Given the description of an element on the screen output the (x, y) to click on. 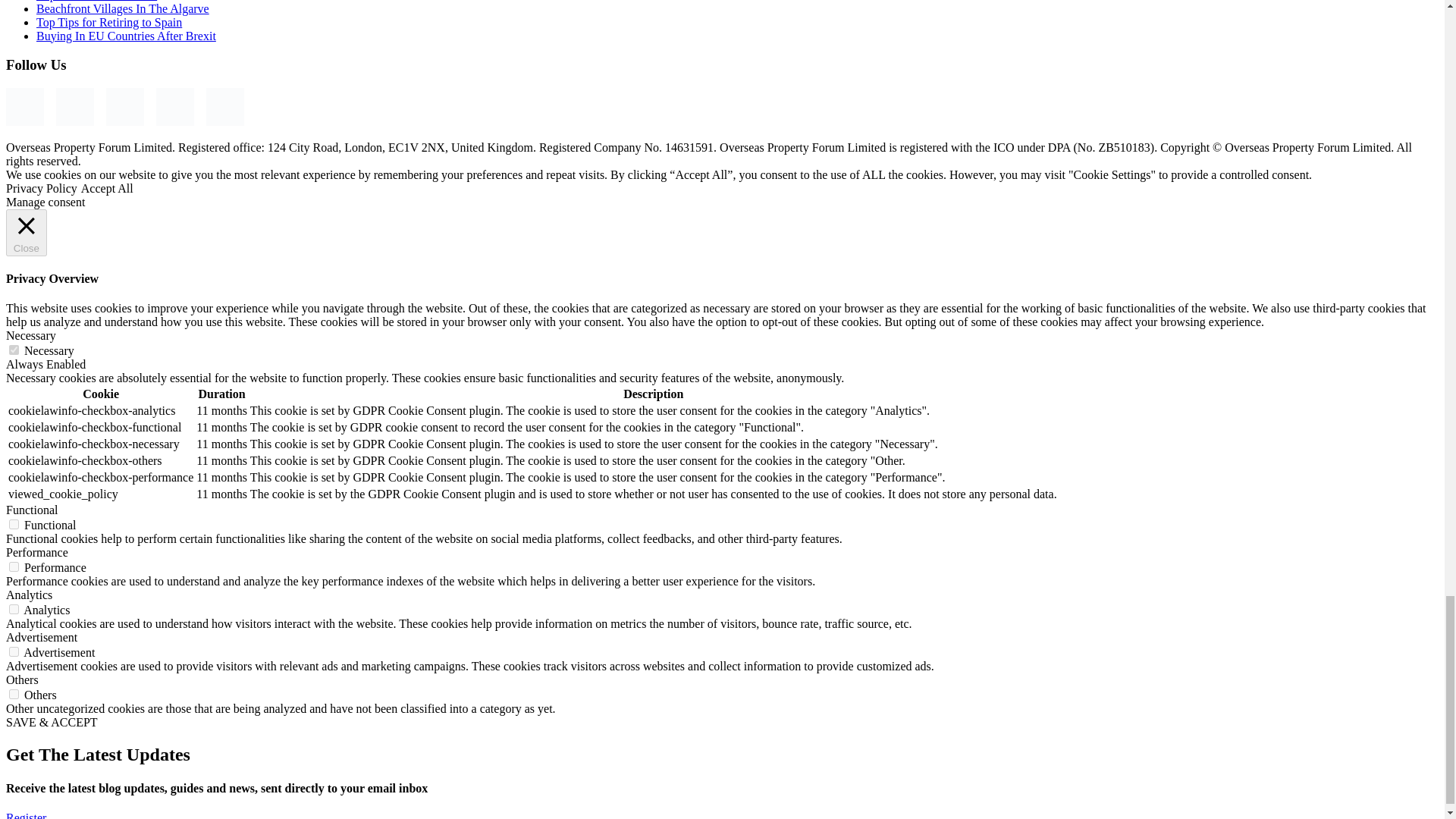
Facebook (24, 106)
Linkedin (225, 106)
on (13, 651)
on (13, 694)
on (13, 349)
on (13, 566)
Twitter (174, 106)
Pinterest (125, 106)
Instagram (75, 106)
on (13, 524)
on (13, 609)
